Given the description of an element on the screen output the (x, y) to click on. 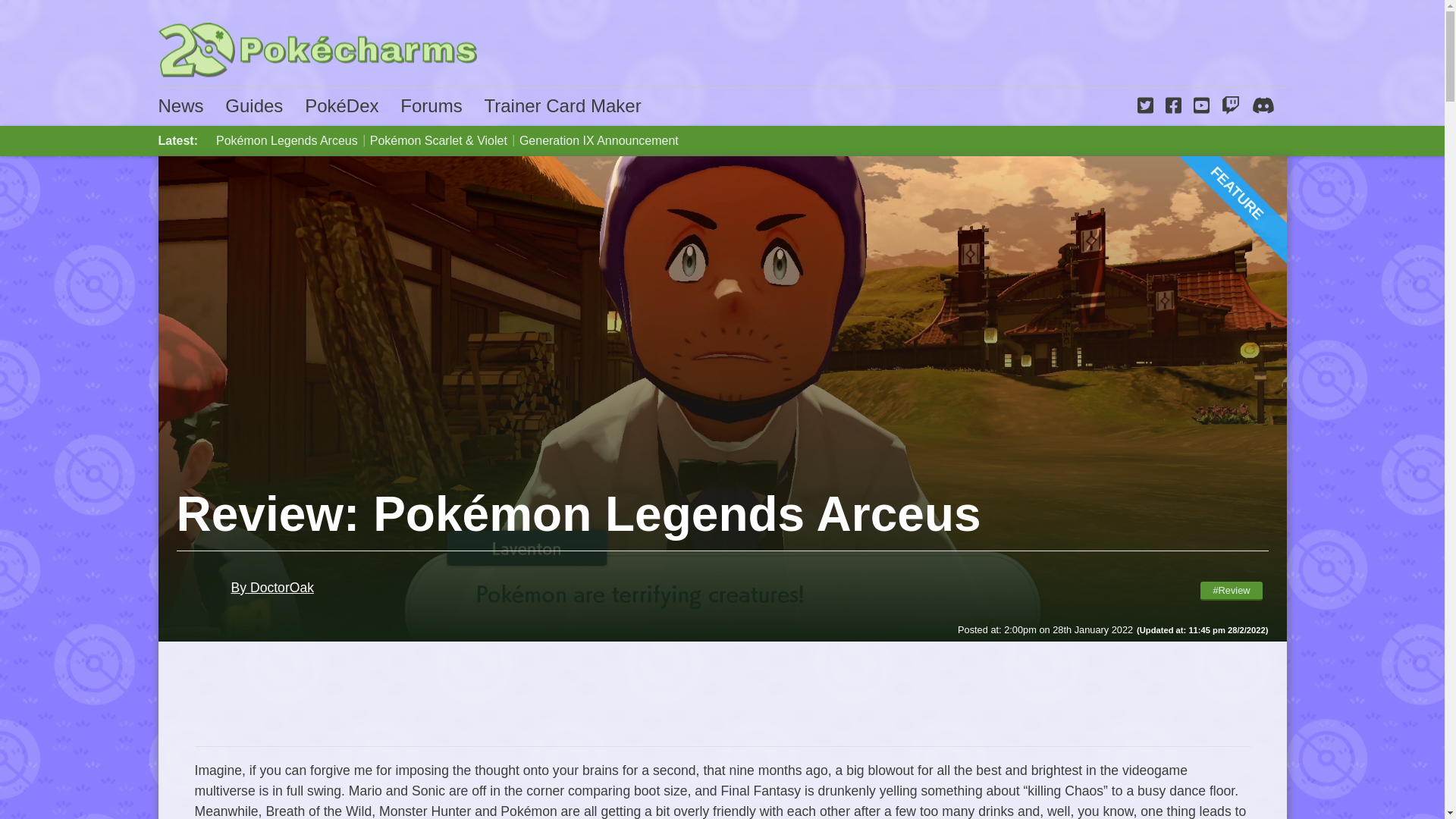
Trainer Card Maker (561, 106)
Join us on Discord (1262, 106)
Generation IX Announcement (598, 140)
News (180, 106)
By DoctorOak (245, 593)
Guides (253, 106)
Forums (430, 106)
